Given the description of an element on the screen output the (x, y) to click on. 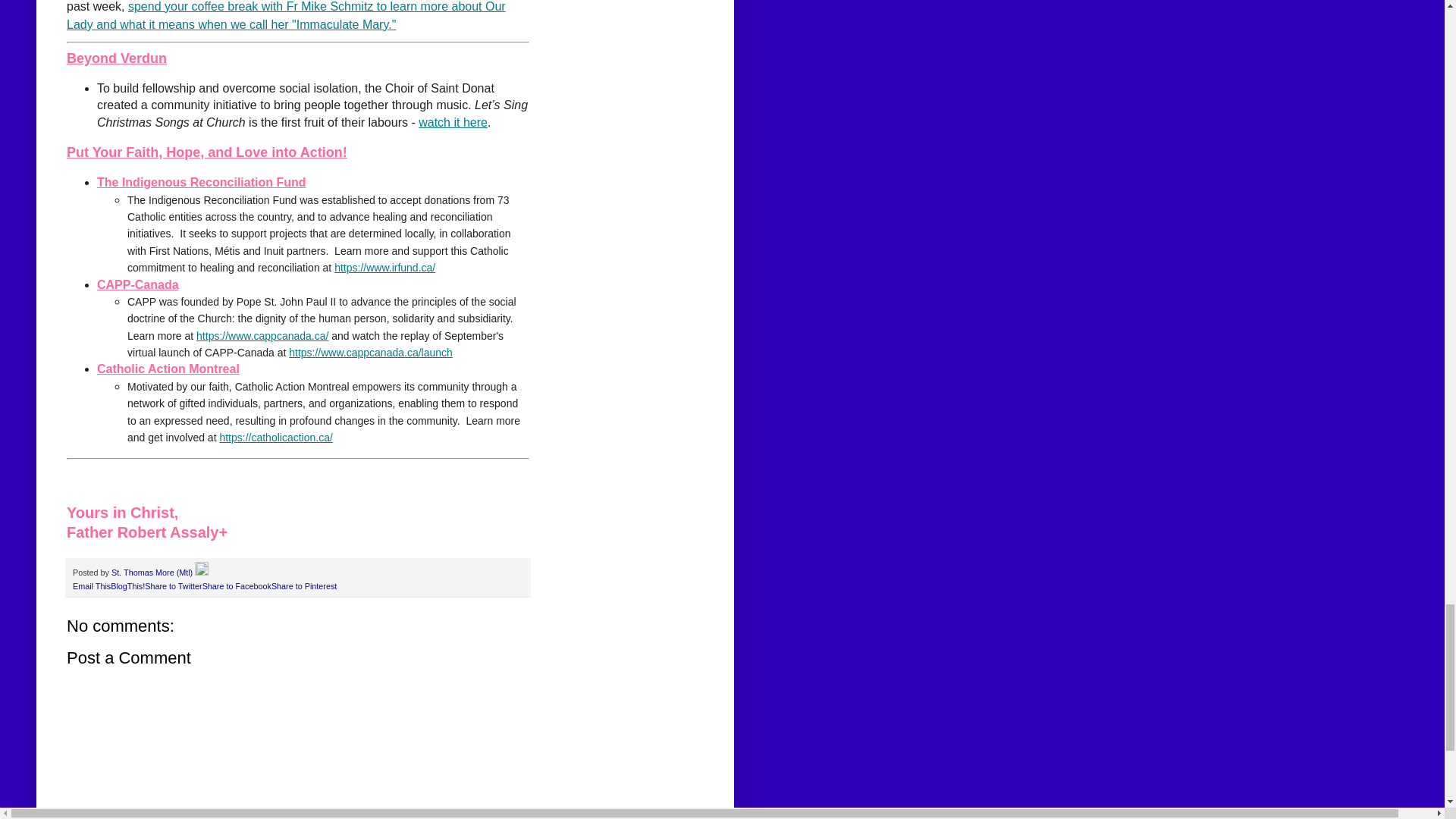
watch it here (453, 122)
Email This (91, 585)
Share to Twitter (173, 585)
Share to Twitter (173, 585)
Share to Facebook (236, 585)
Edit Post (201, 572)
author profile (153, 572)
Share to Pinterest (303, 585)
Share to Facebook (236, 585)
Share to Pinterest (303, 585)
Email This (91, 585)
BlogThis! (127, 585)
BlogThis! (127, 585)
